Given the description of an element on the screen output the (x, y) to click on. 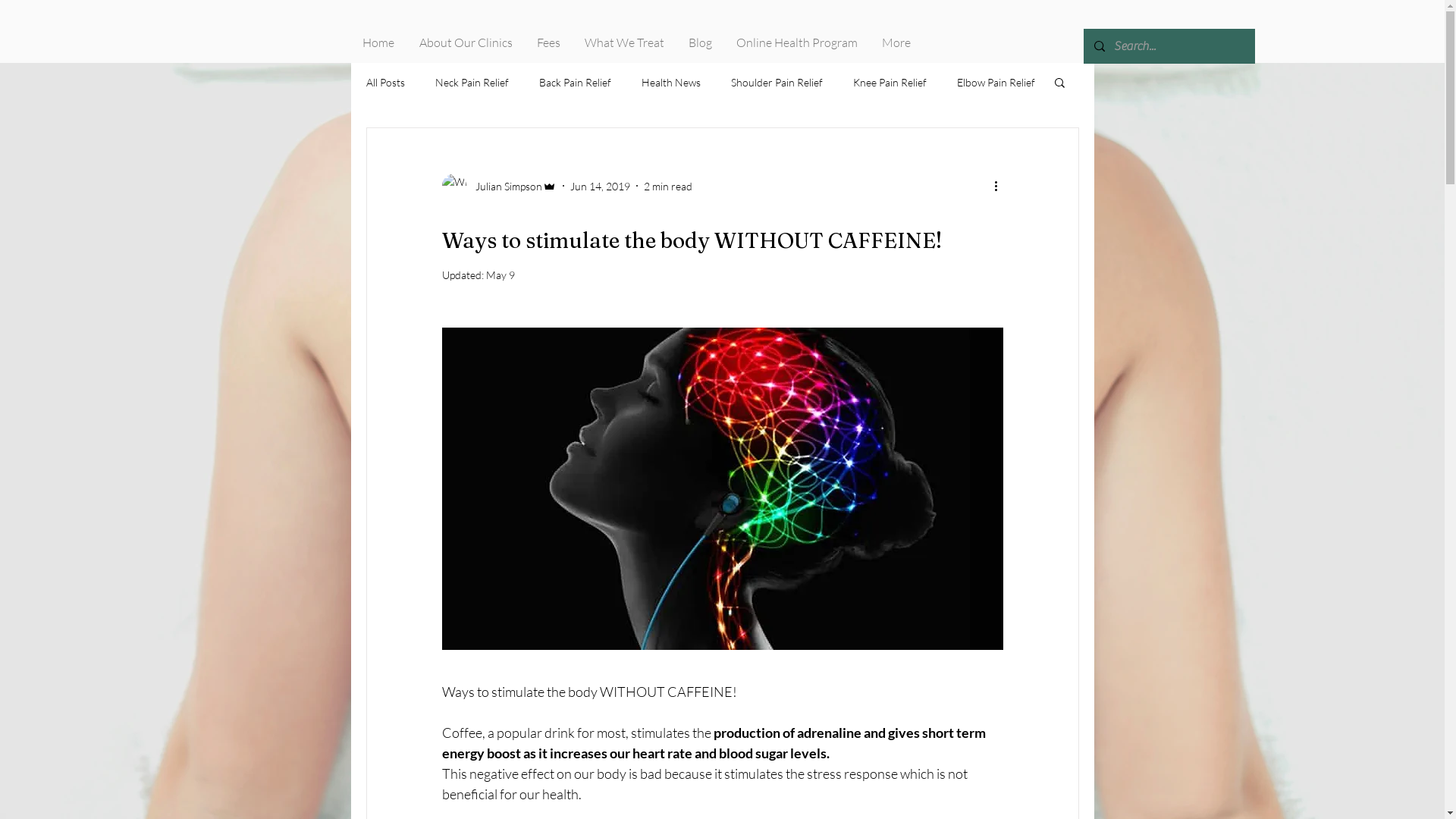
Home Element type: text (378, 42)
Neck Pain Relief Element type: text (471, 81)
What We Treat Element type: text (625, 42)
About Our Clinics Element type: text (466, 42)
Elbow Pain Relief Element type: text (996, 81)
Julian Simpson Element type: text (498, 185)
Online Health Program Element type: text (797, 42)
Knee Pain Relief Element type: text (888, 81)
Blog Element type: text (700, 42)
Health News Element type: text (670, 81)
Shoulder Pain Relief Element type: text (776, 81)
All Posts Element type: text (384, 81)
Fees Element type: text (548, 42)
Back Pain Relief Element type: text (574, 81)
